Given the description of an element on the screen output the (x, y) to click on. 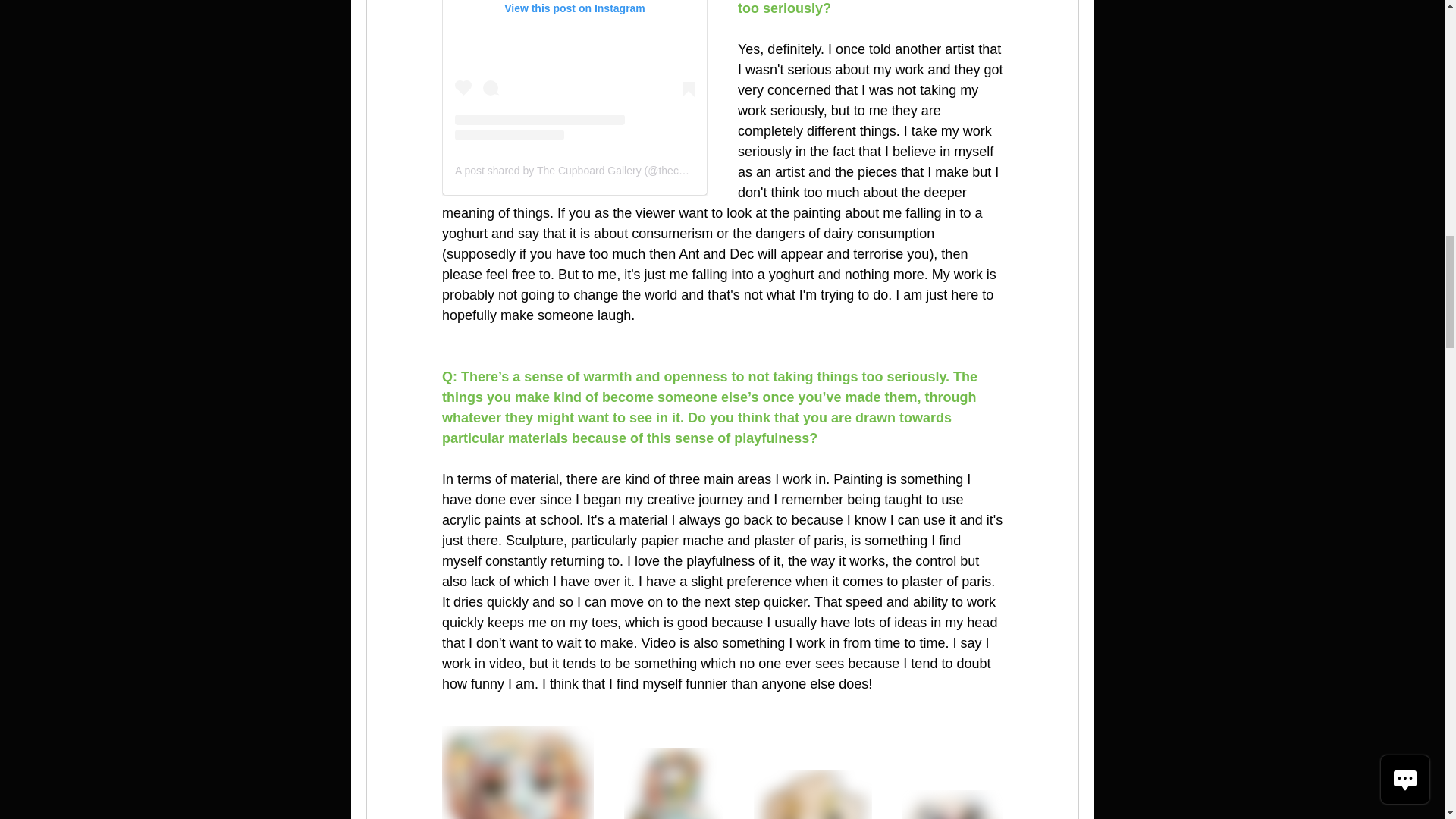
remote content (573, 97)
